Given the description of an element on the screen output the (x, y) to click on. 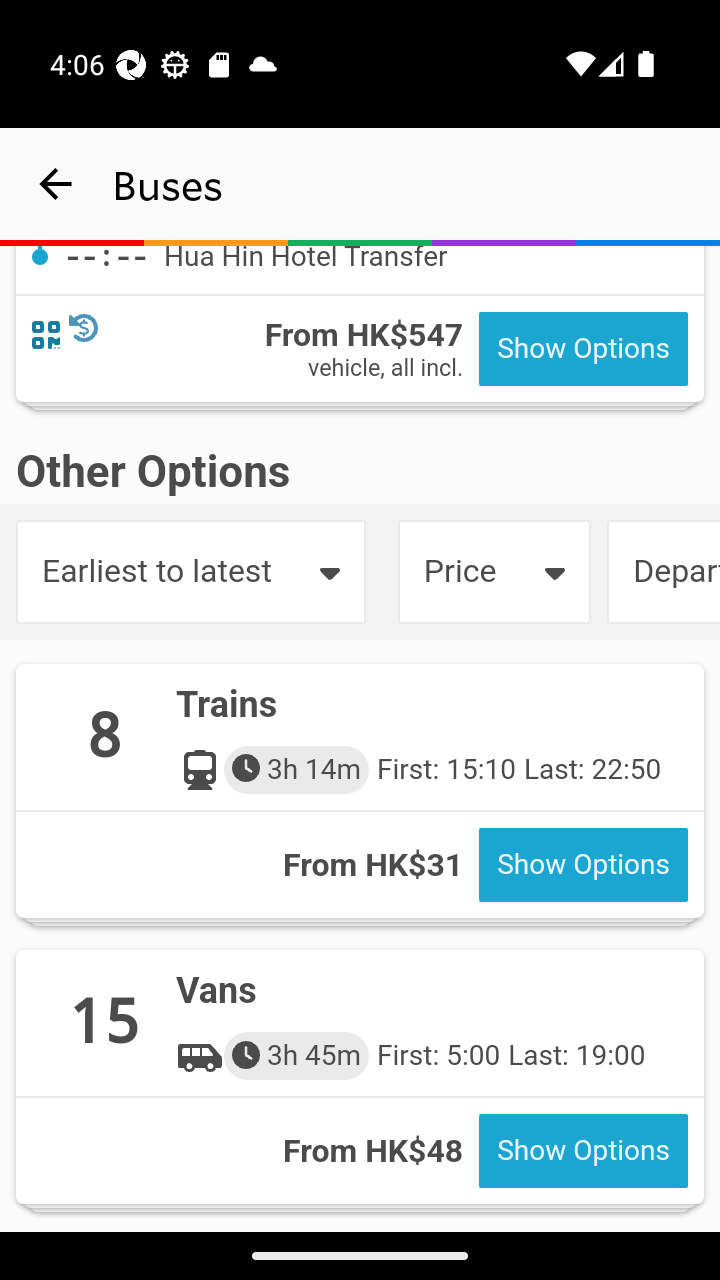
navigation_button (56, 184)
Show Options (583, 349)
Earliest to latest (190, 572)
Price (493, 572)
Departure (663, 572)
Show Options (583, 865)
Show Options (583, 1151)
